Given the description of an element on the screen output the (x, y) to click on. 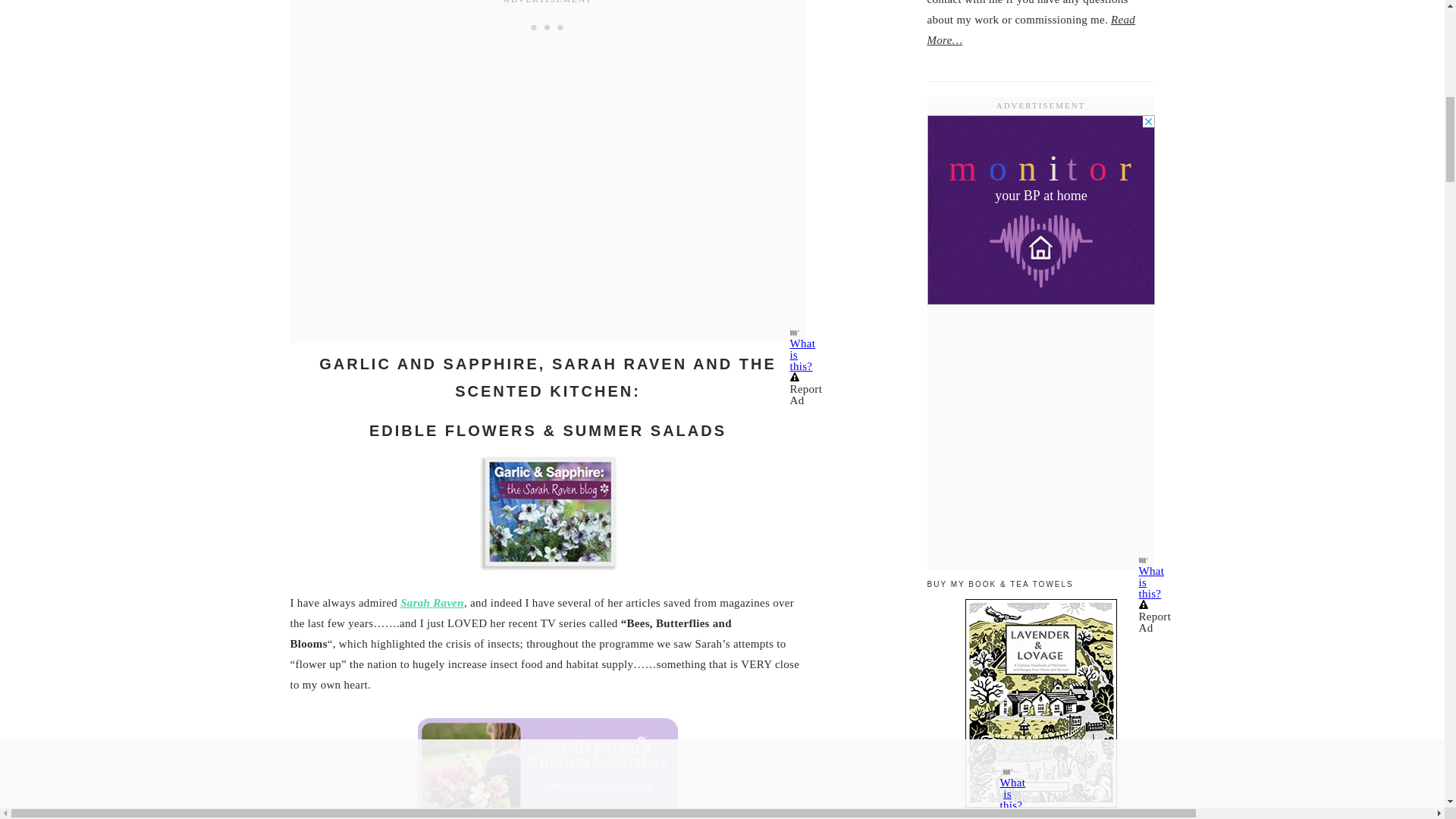
3rd party ad content (1040, 209)
image001 (547, 766)
3rd party ad content (547, 27)
